Given the description of an element on the screen output the (x, y) to click on. 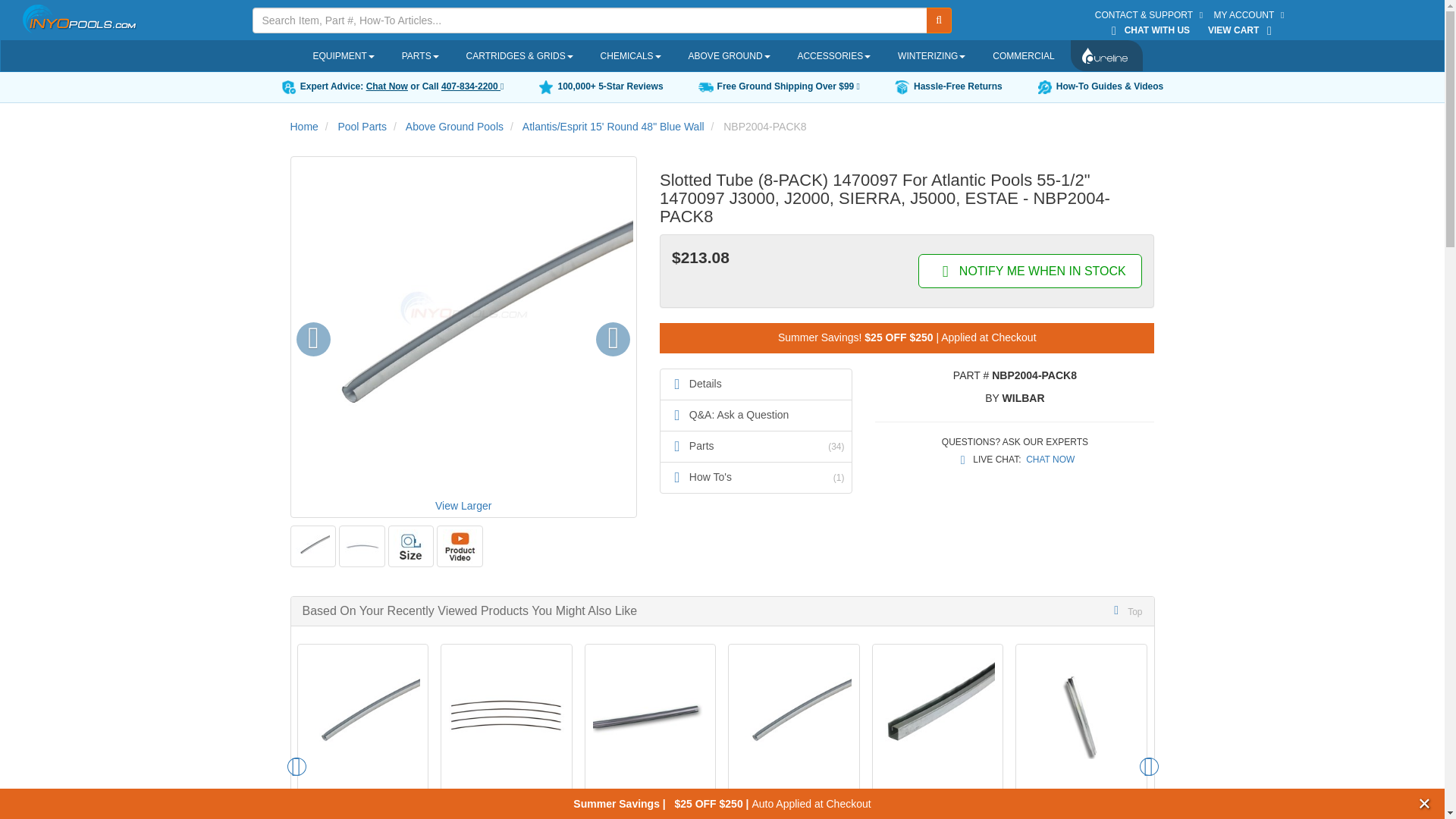
MY ACCOUNT (1253, 14)
Product Video (459, 546)
EQUIPMENT (345, 55)
Product Dimensions (410, 546)
Back To Top (1125, 611)
VIEW CART (1244, 30)
Product Dimensions (410, 546)
Product Video (459, 546)
CHAT WITH US (1149, 30)
